Given the description of an element on the screen output the (x, y) to click on. 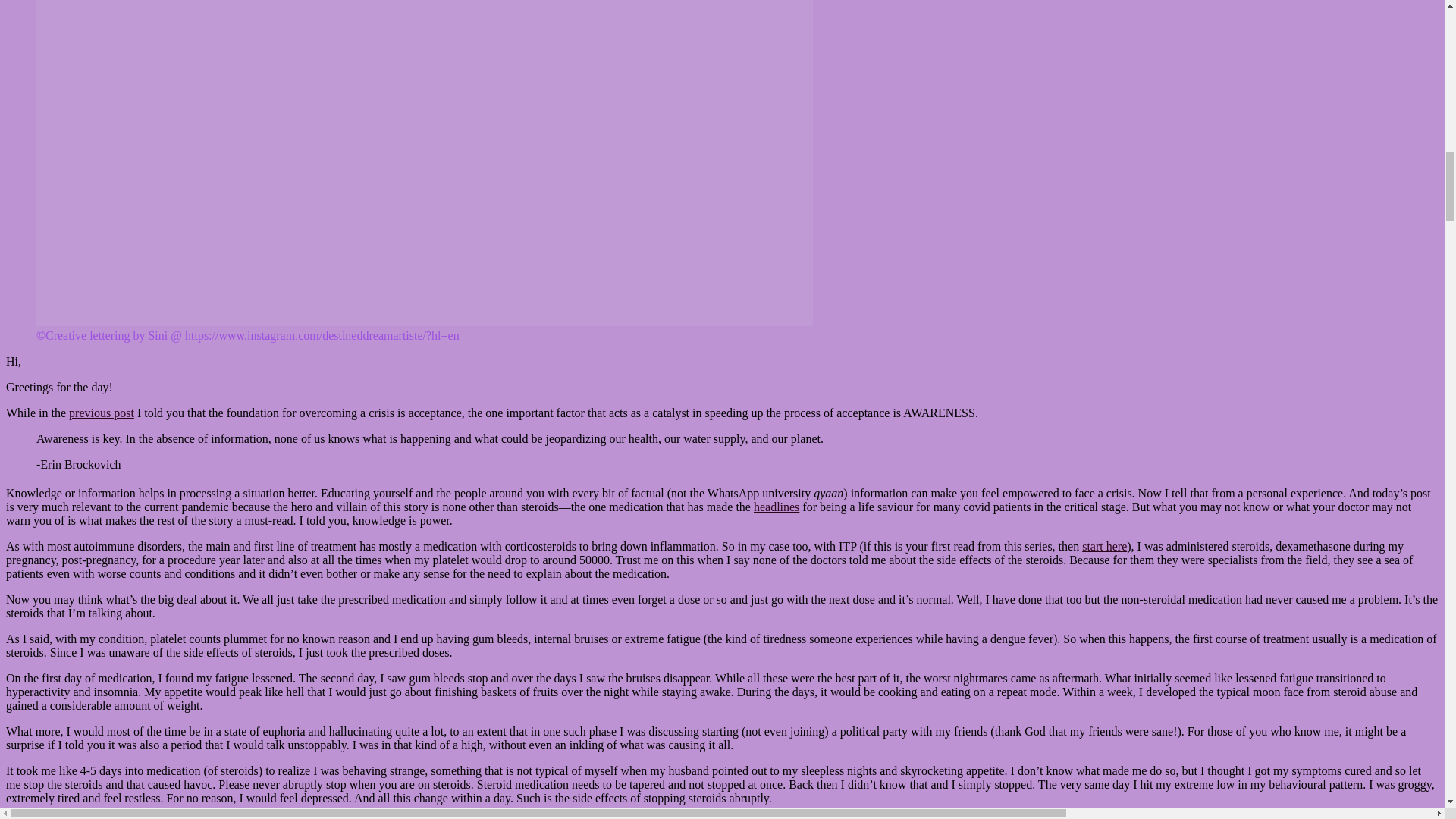
previous post (100, 412)
start here (1103, 545)
headlines (776, 506)
